Given the description of an element on the screen output the (x, y) to click on. 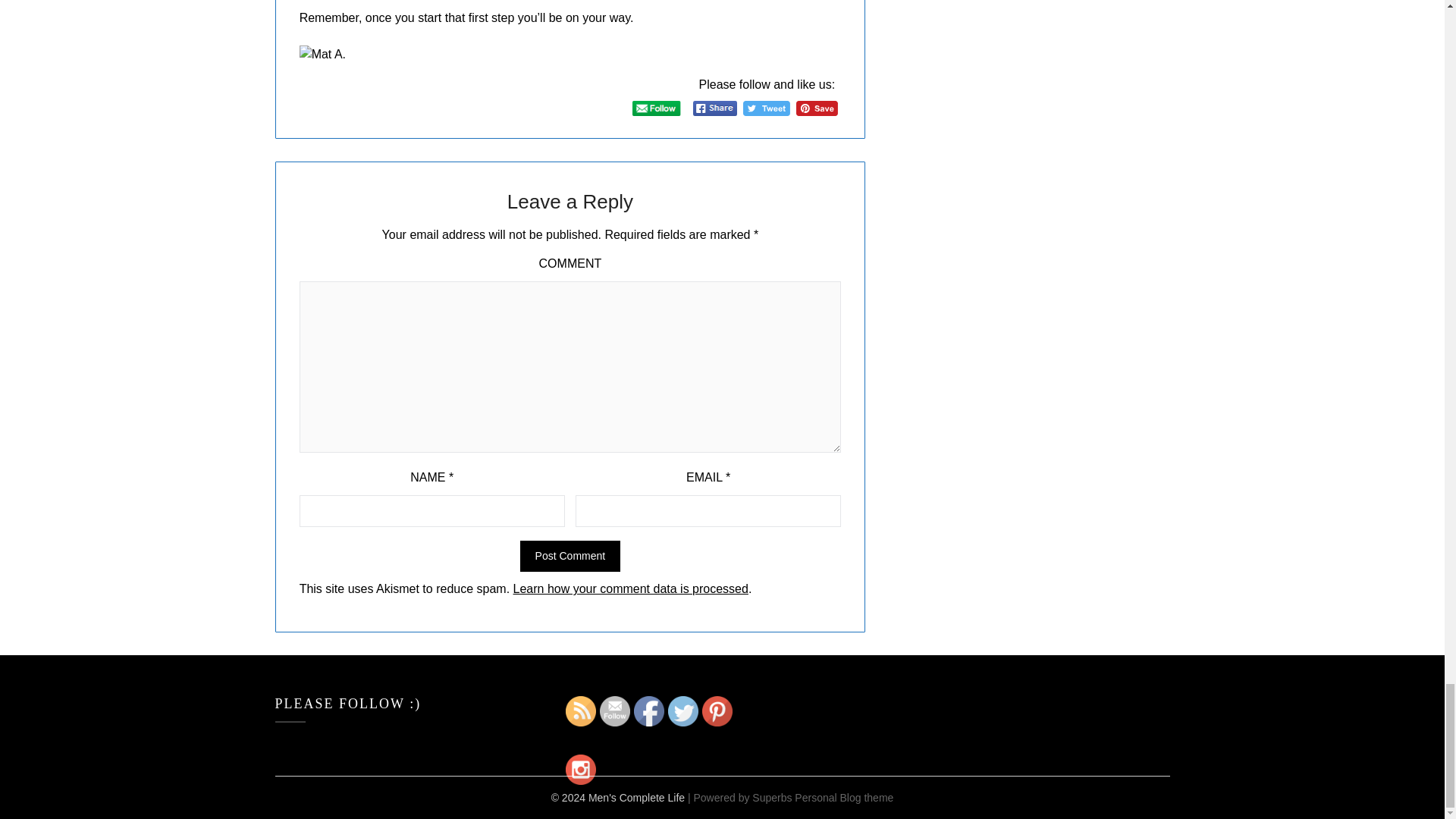
Facebook Share (714, 108)
Pin Share (817, 108)
Facebook (648, 711)
Twitter (683, 711)
Learn how your comment data is processed (630, 588)
Post Comment (570, 555)
Tweet (766, 108)
Post Comment (570, 555)
RSS (580, 711)
Follow by Email (614, 711)
